Given the description of an element on the screen output the (x, y) to click on. 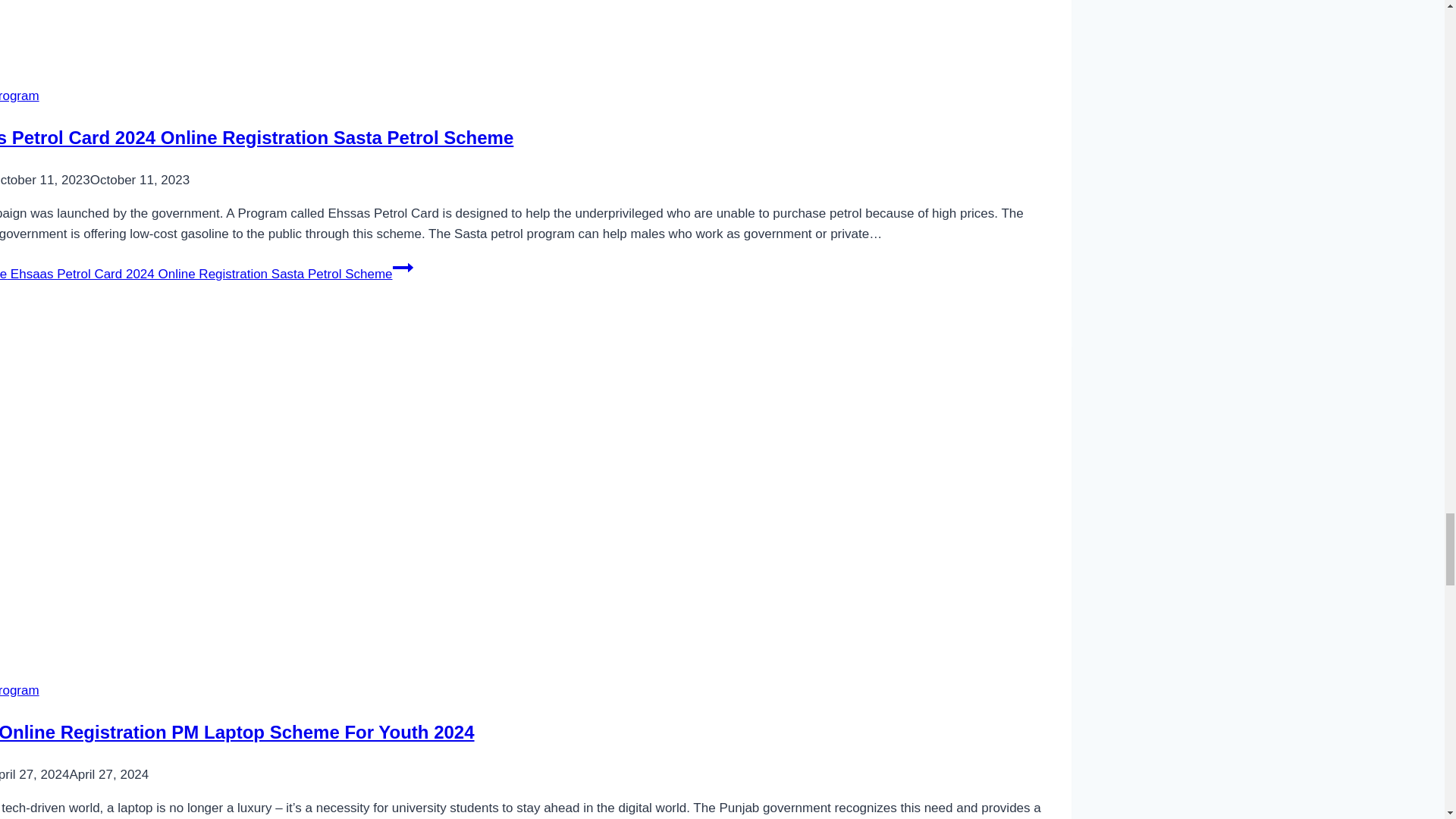
Ehsaas Program (19, 95)
Continue (403, 267)
Apply Online Registration PM Laptop Scheme For Youth 2024 (237, 731)
Ehsaas Program (19, 690)
